Given the description of an element on the screen output the (x, y) to click on. 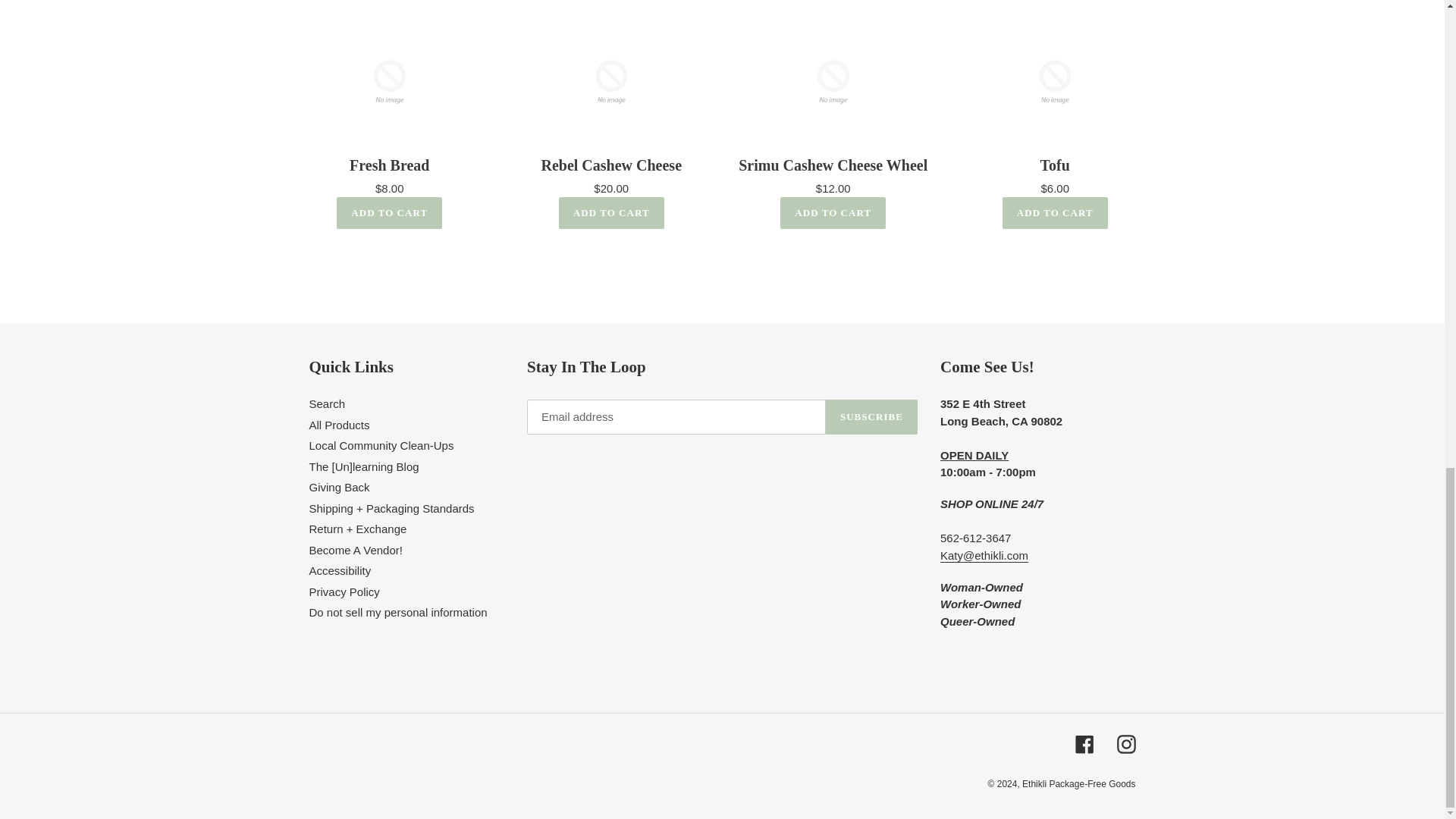
Contact Us (983, 555)
